Given the description of an element on the screen output the (x, y) to click on. 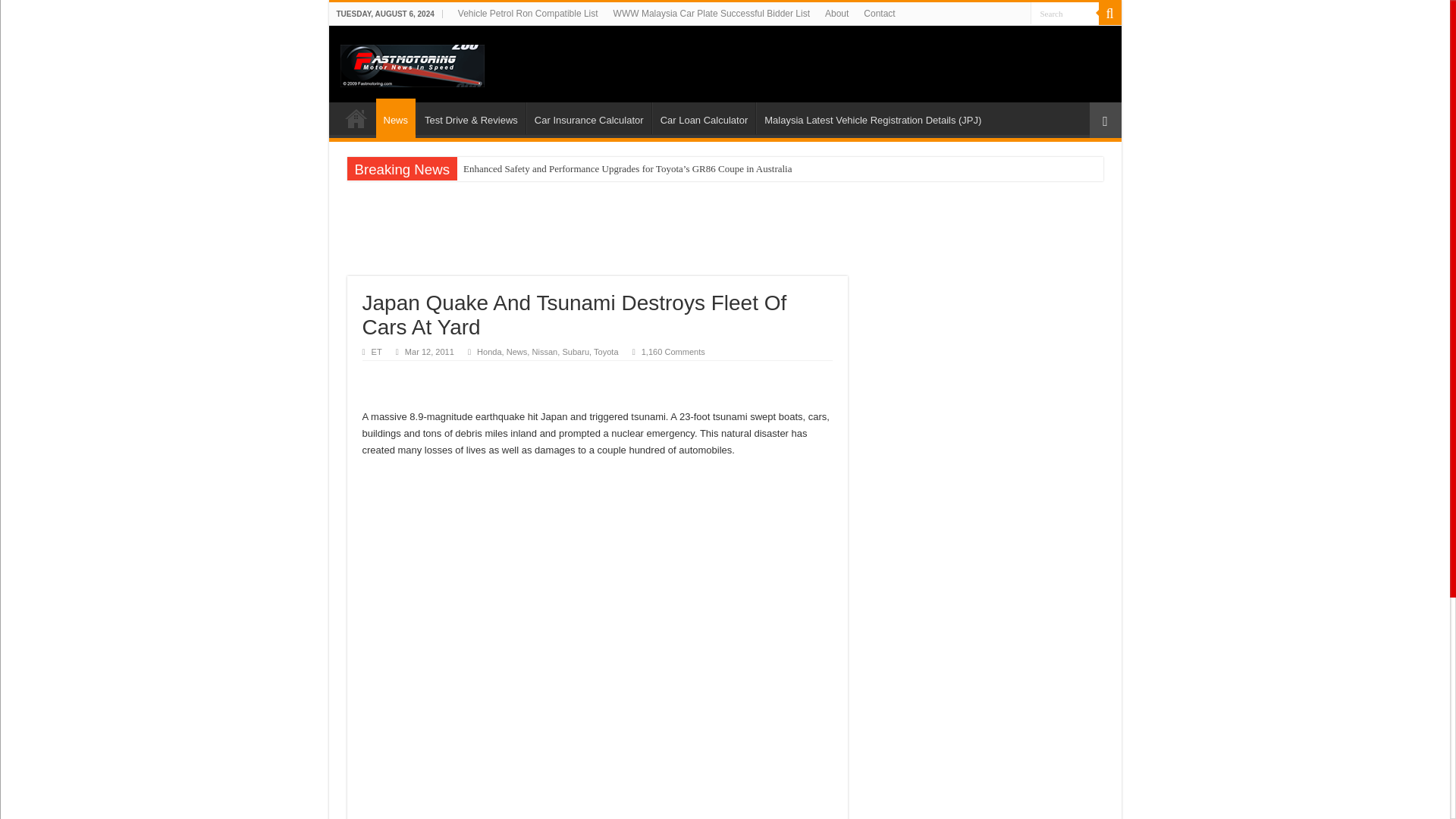
Search (1109, 13)
Random Article (1105, 120)
News (516, 351)
Home (355, 118)
Vehicle Petrol Ron Compatible List (527, 13)
ET (376, 351)
News (395, 118)
WWW Malaysia Car Plate Successful Bidder List (710, 13)
Honda (489, 351)
About (836, 13)
Toyota (606, 351)
Car Loan Calculator (703, 118)
Nissan (544, 351)
Car Insurance Calculator (587, 118)
Search (1063, 13)
